Given the description of an element on the screen output the (x, y) to click on. 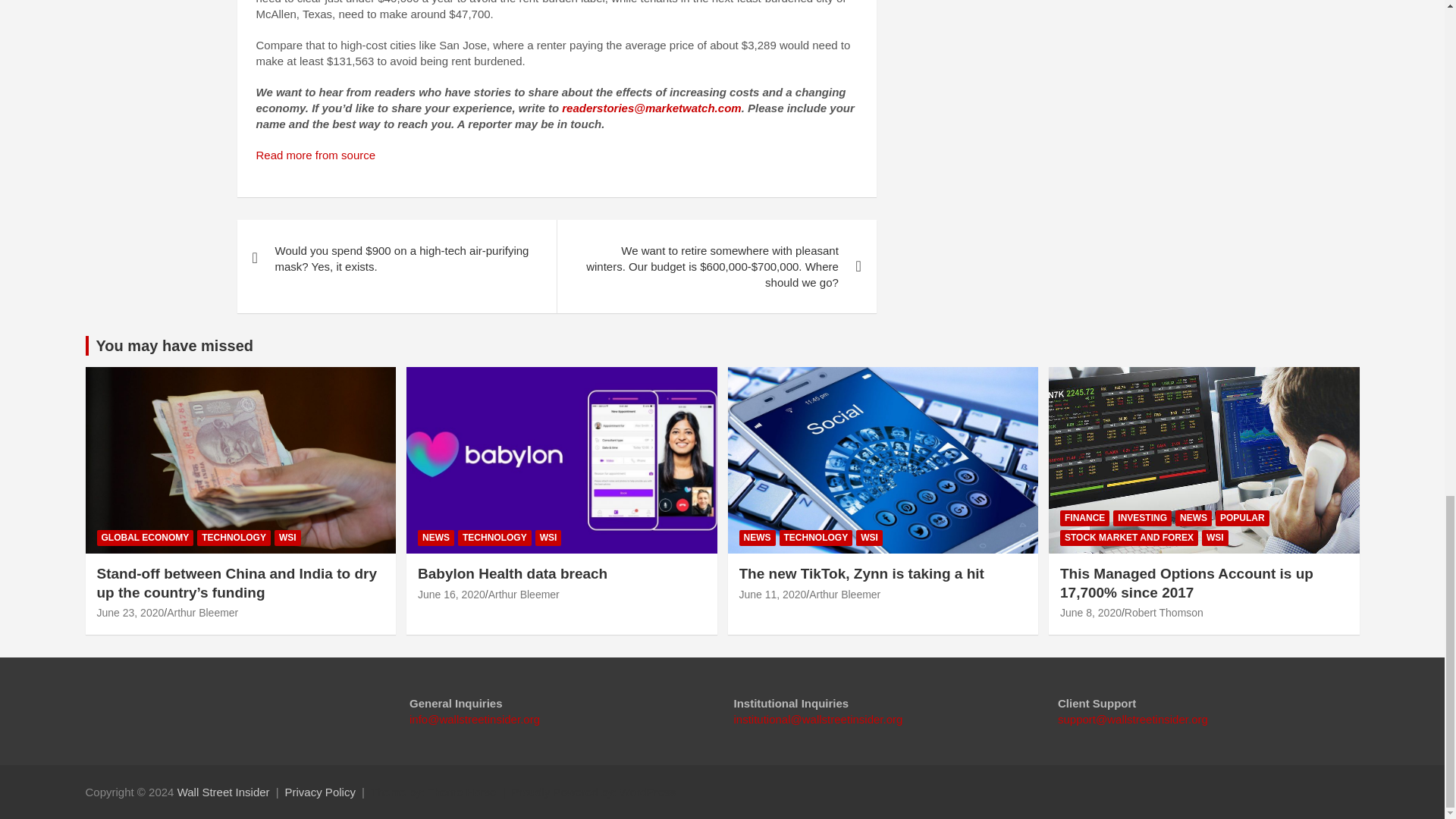
Wall Street Insider (223, 791)
The new TikTok, Zynn is taking a hit (772, 594)
Theme Horse (462, 791)
Babylon Health data breach (450, 594)
Read more from source (315, 154)
WordPress (647, 791)
You may have missed (174, 345)
